Given the description of an element on the screen output the (x, y) to click on. 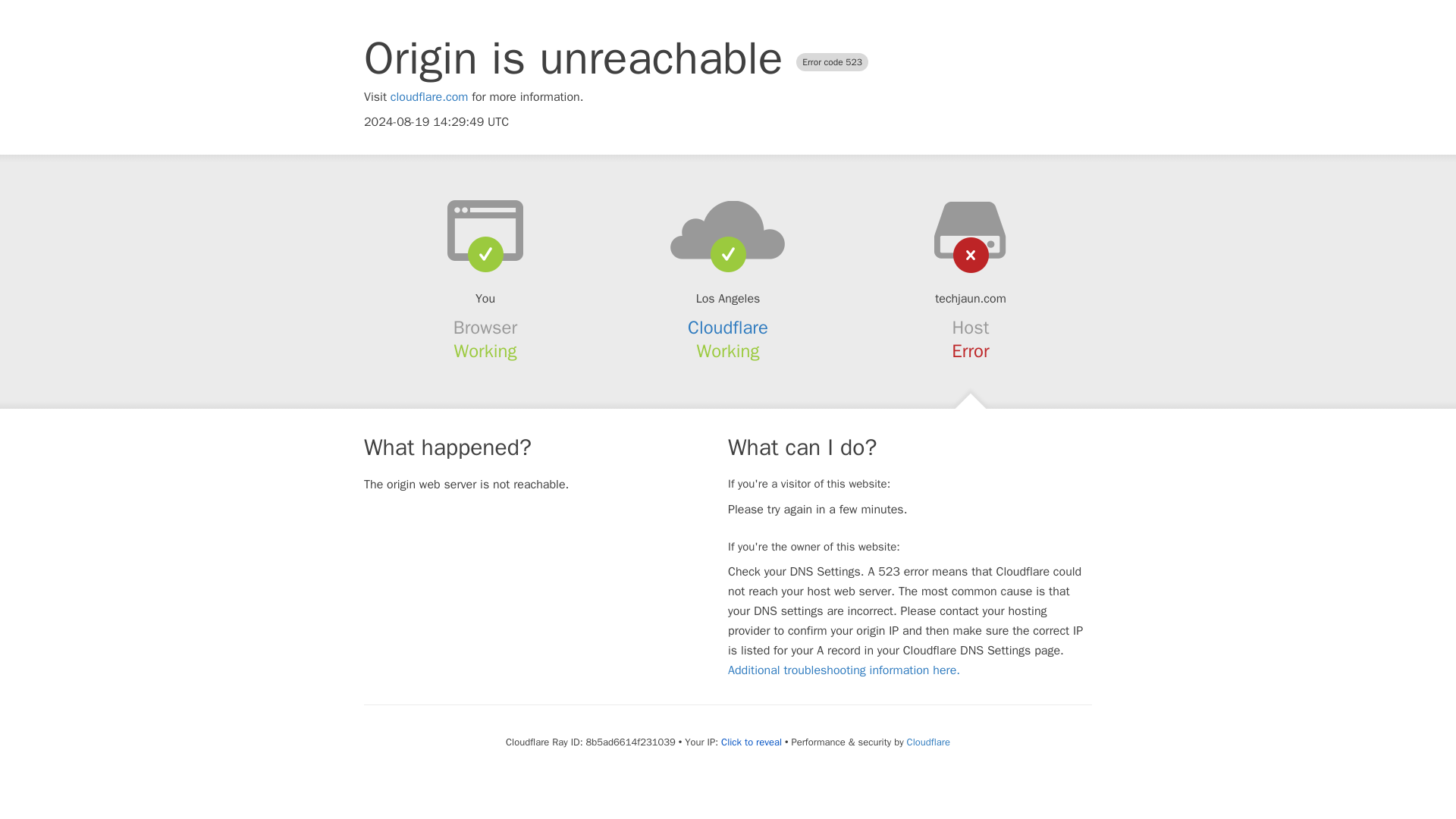
Click to reveal (750, 742)
cloudflare.com (429, 96)
Cloudflare (727, 327)
Additional troubleshooting information here. (843, 670)
Cloudflare (928, 741)
